Given the description of an element on the screen output the (x, y) to click on. 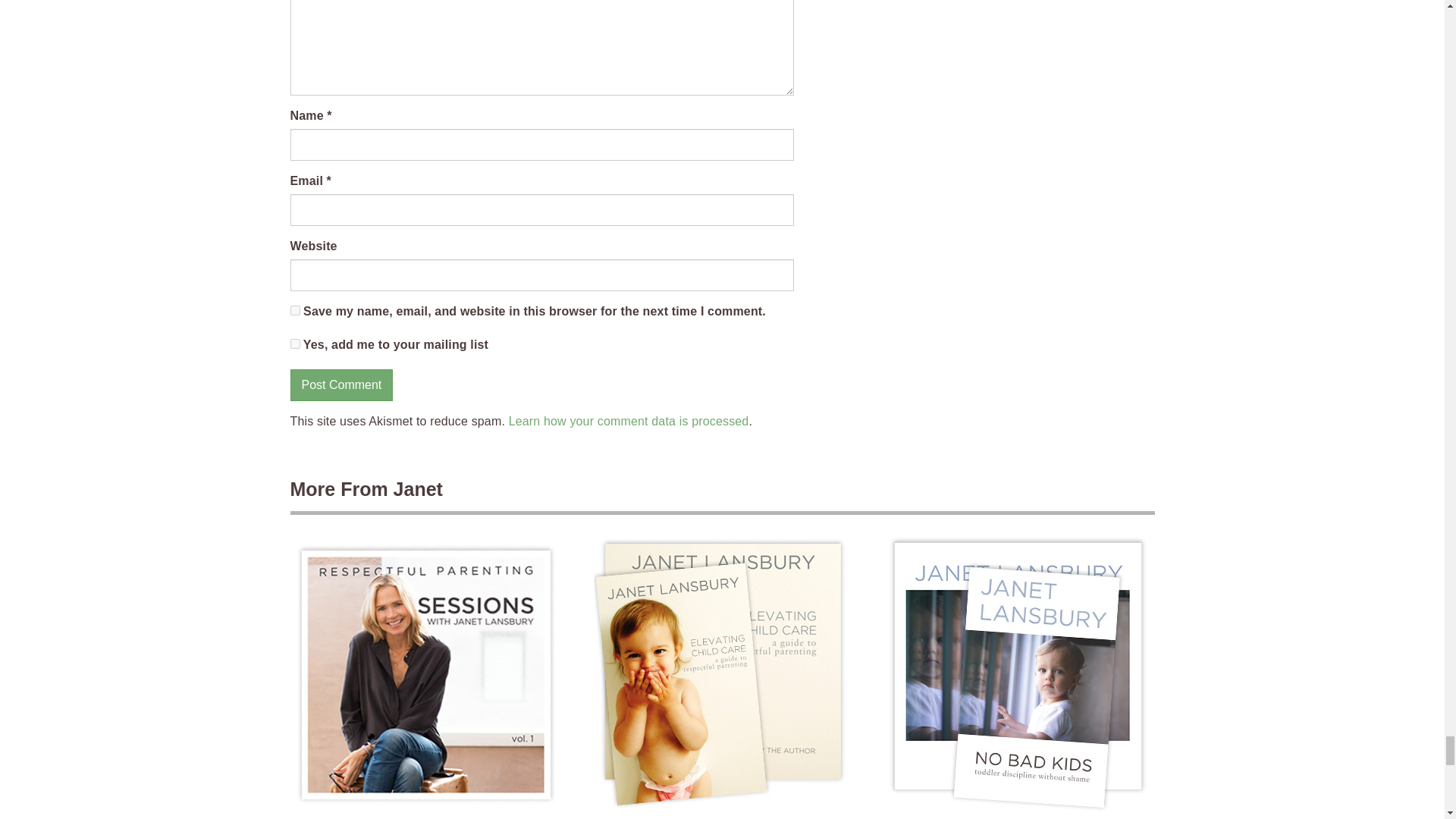
yes (294, 310)
Post Comment (341, 385)
1 (294, 343)
